Given the description of an element on the screen output the (x, y) to click on. 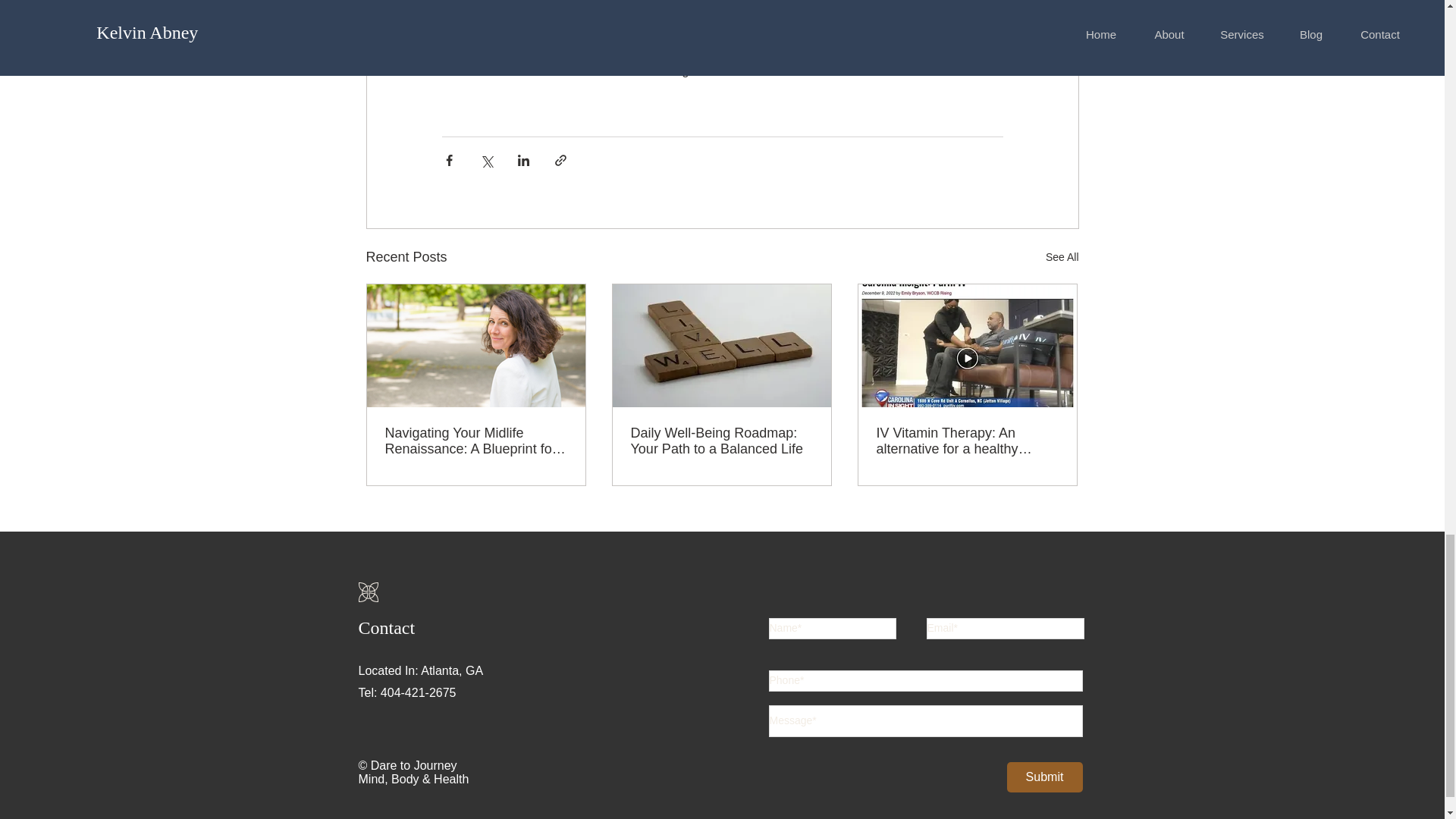
IV Vitamin Therapy: An alternative for a healthy lifestyle (967, 441)
Submit (1045, 777)
Daily Well-Being Roadmap: Your Path to a Balanced Life (721, 441)
See All (1061, 257)
